Given the description of an element on the screen output the (x, y) to click on. 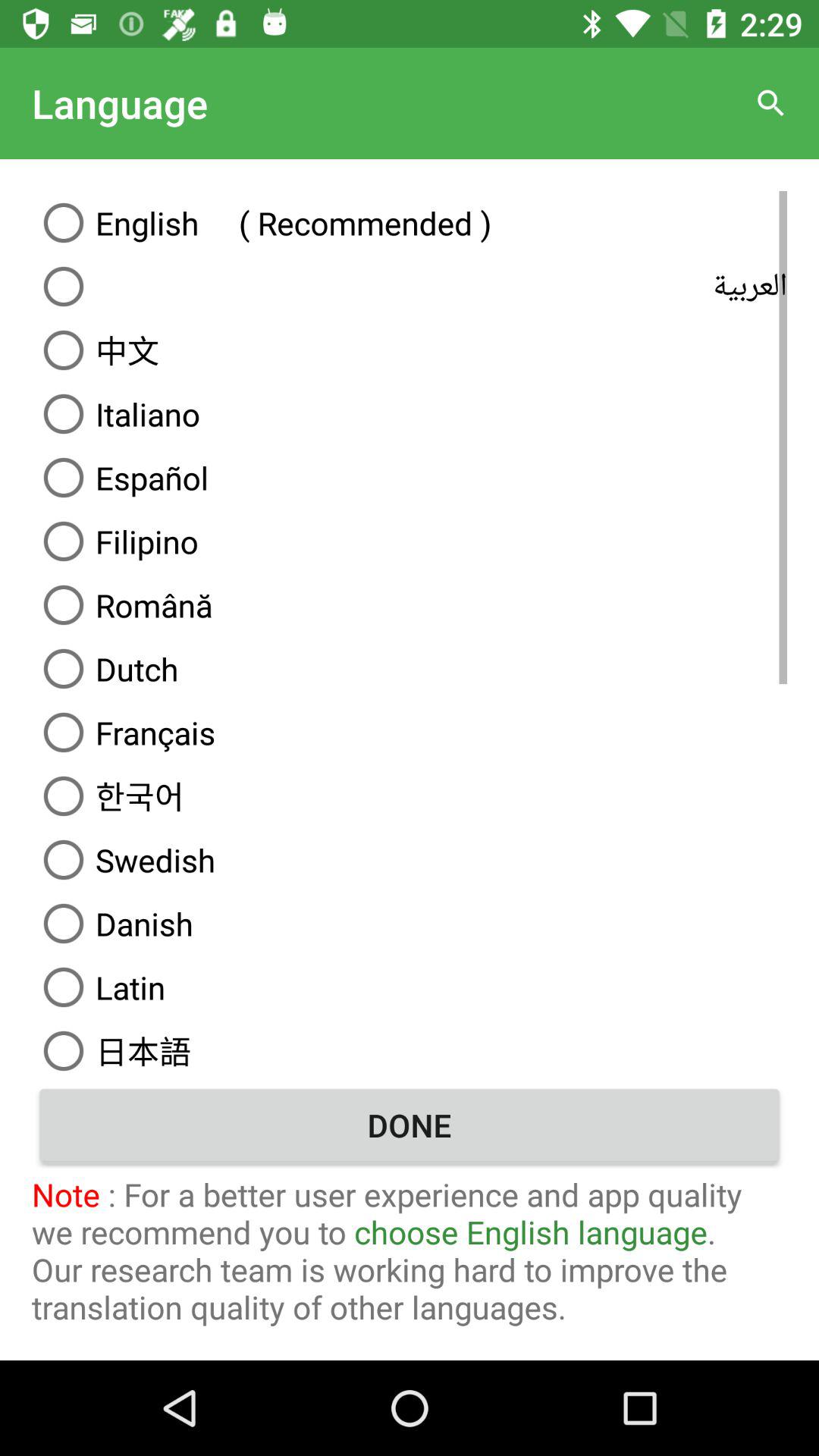
tap the item below the danish icon (409, 987)
